Given the description of an element on the screen output the (x, y) to click on. 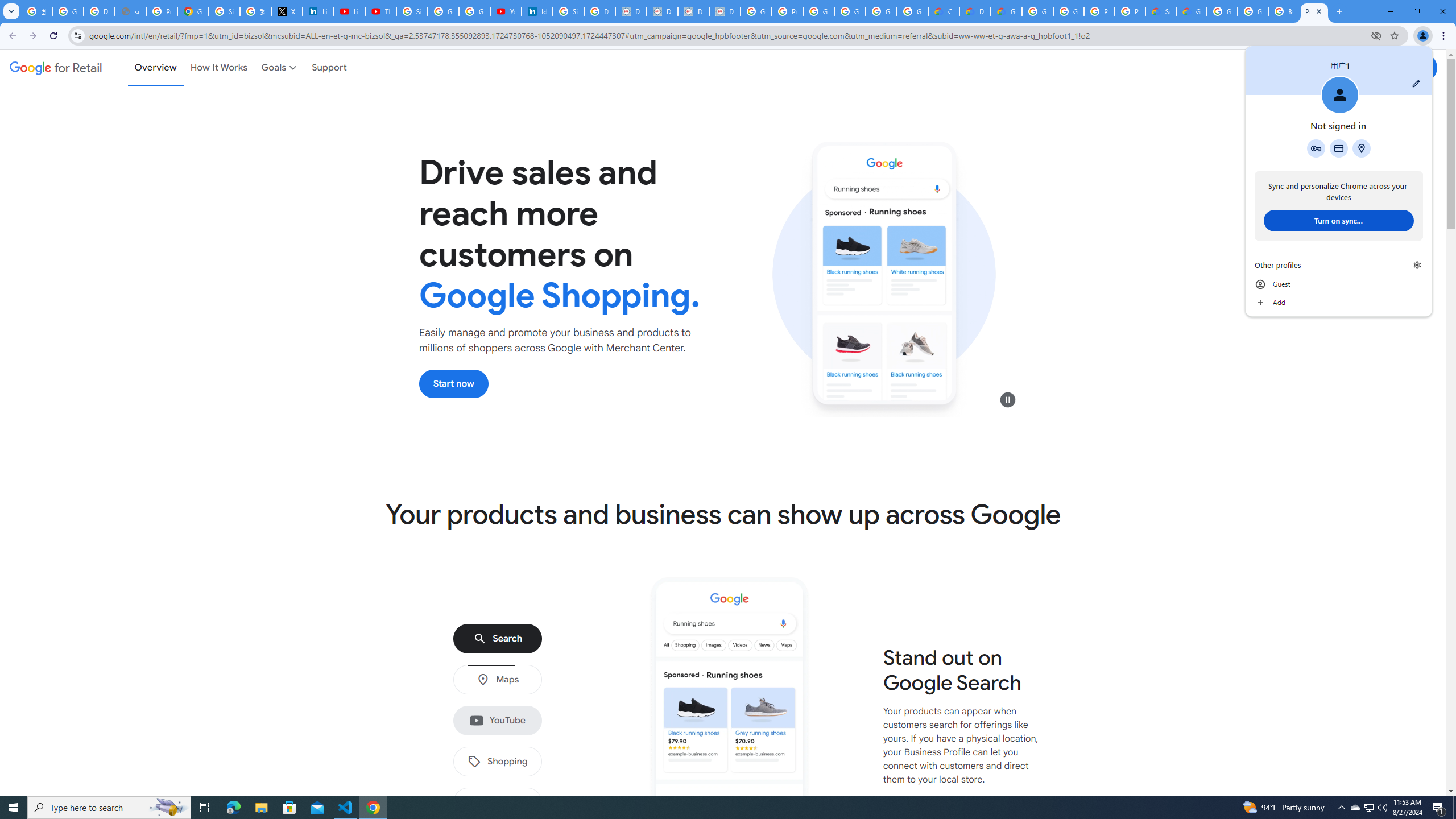
Google for Retail (55, 67)
Start now (454, 383)
Sign in - Google Accounts (411, 11)
Microsoft Store (289, 807)
Google Cloud Platform (1037, 11)
Running applications (717, 807)
Search highlights icon opens search home window (167, 807)
Q2790: 100% (1382, 807)
Google Workspace - Specific Terms (881, 11)
How It Works (218, 67)
Google Chrome - 1 running window (373, 807)
Payment methods (1338, 148)
